Given the description of an element on the screen output the (x, y) to click on. 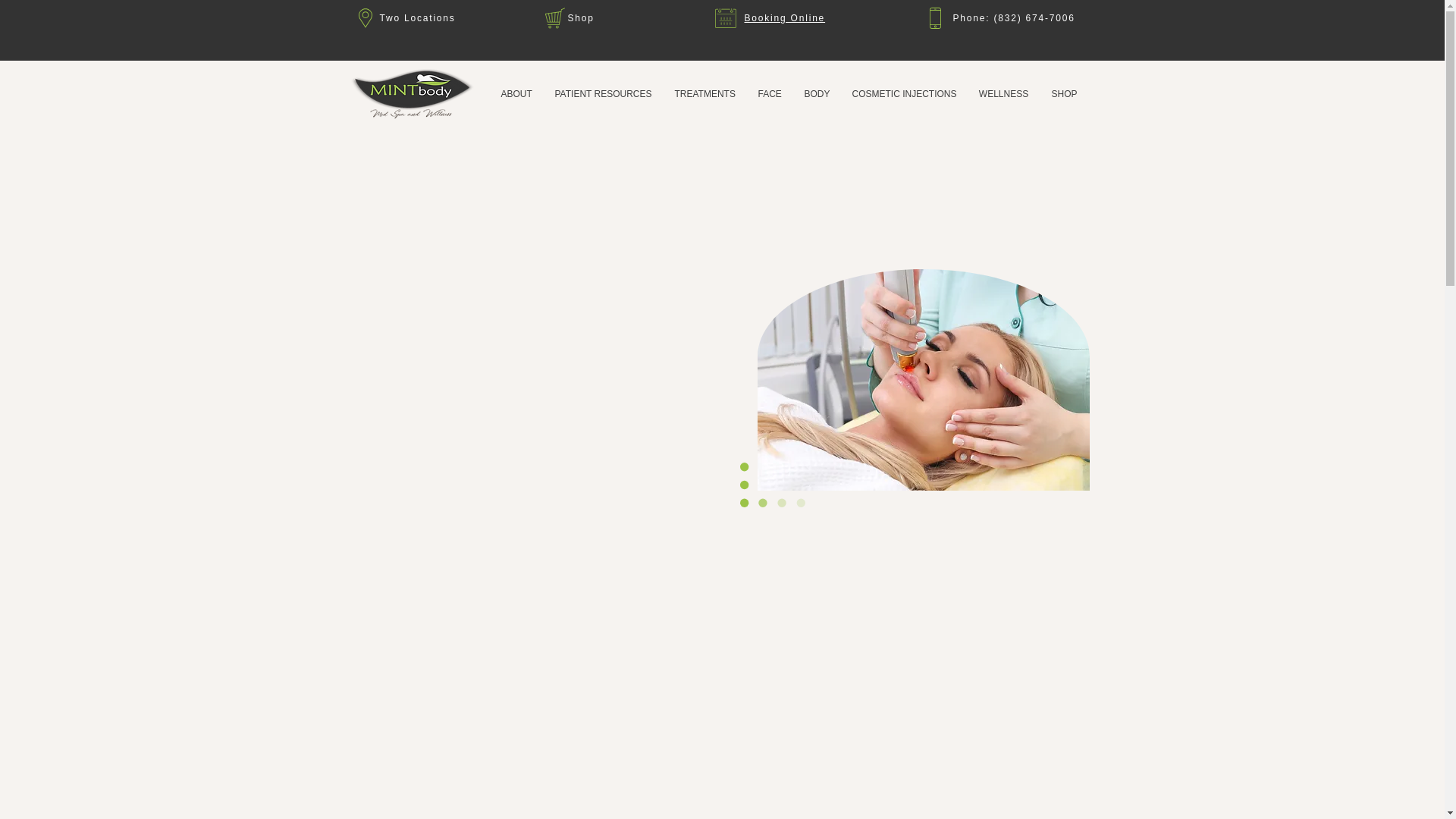
Booking Online (784, 18)
ABOUT (516, 94)
Two Locations (416, 18)
